Given the description of an element on the screen output the (x, y) to click on. 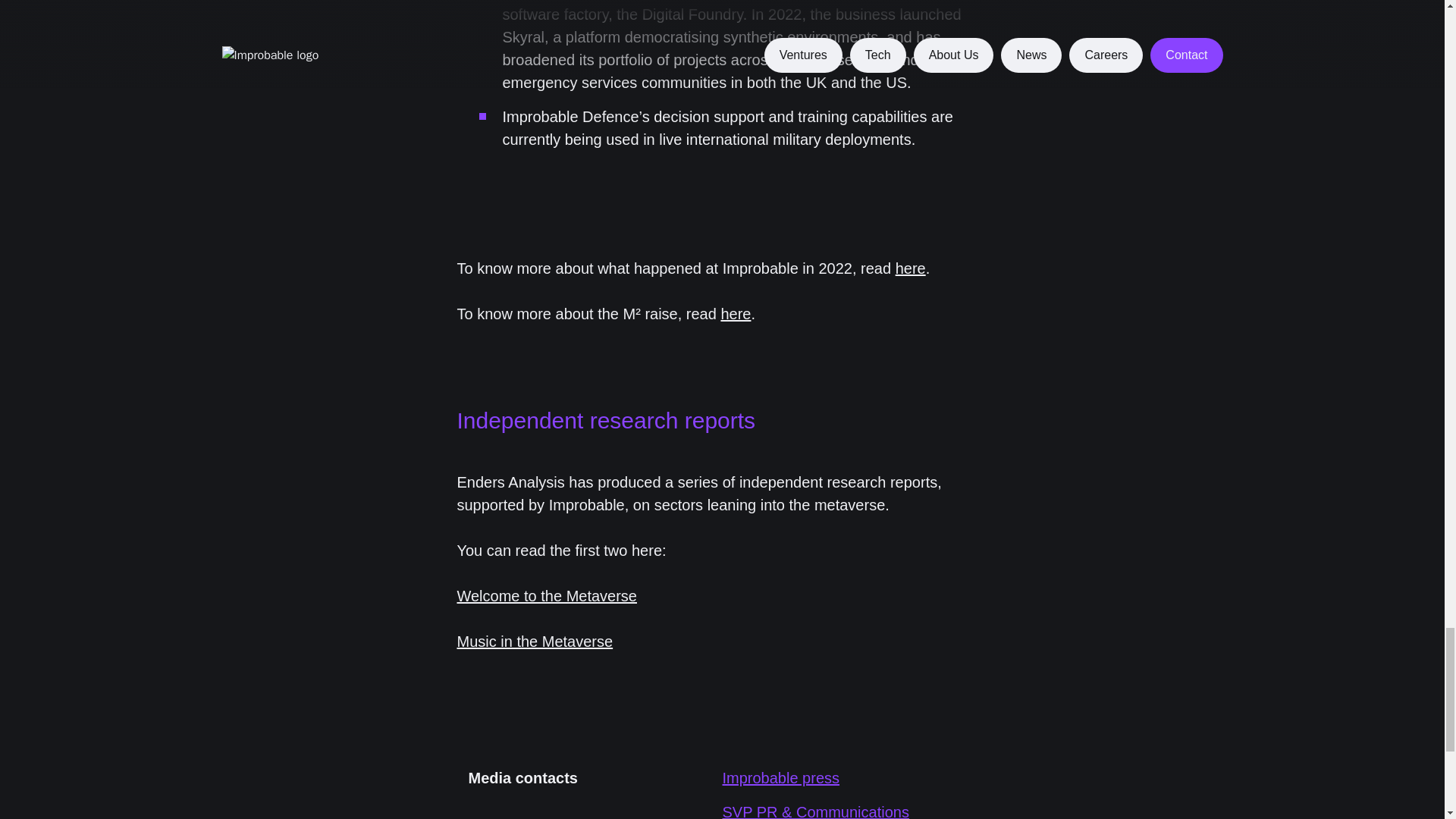
here (910, 267)
Music in the Metaverse (534, 641)
Welcome to the Metaverse (547, 596)
here (735, 312)
Improbable press (781, 777)
